Given the description of an element on the screen output the (x, y) to click on. 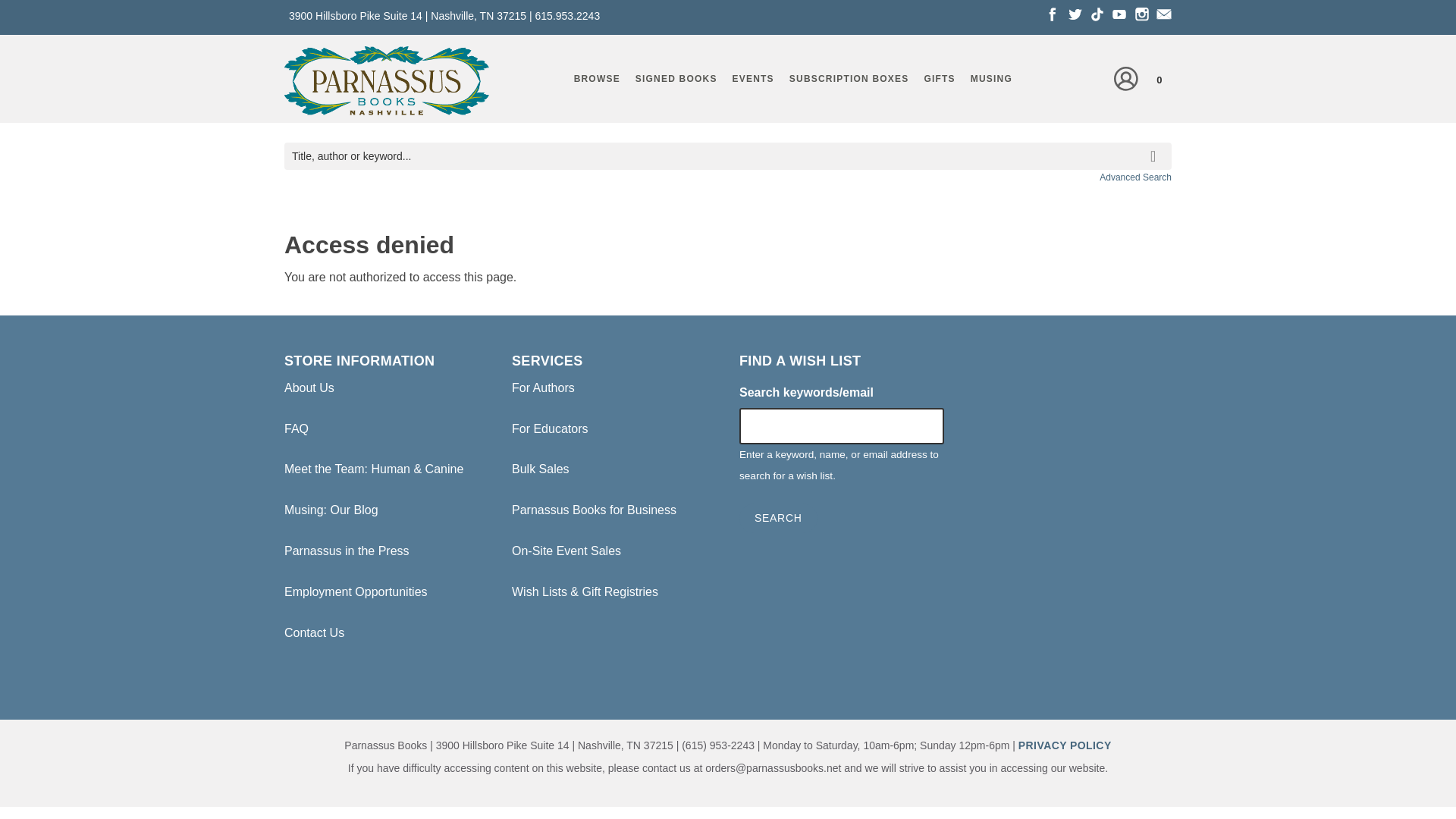
SIGNED BOOKS (676, 78)
Title, author or keyword... (727, 156)
BROWSE (596, 78)
Home (386, 82)
GIFTS (938, 78)
search (1156, 144)
MUSING (991, 78)
Search (777, 518)
SUBSCRIPTION BOXES (849, 78)
